Given the description of an element on the screen output the (x, y) to click on. 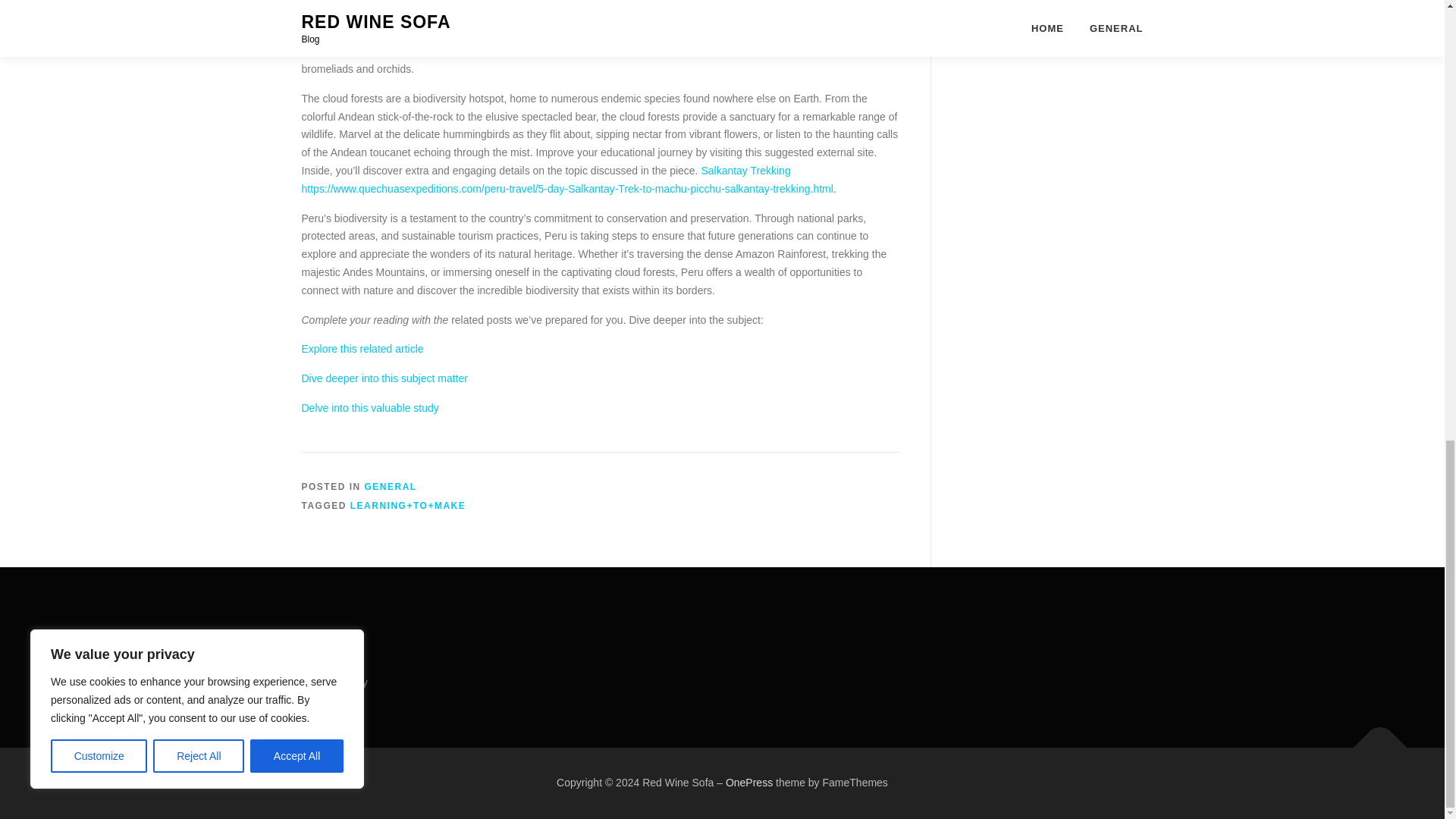
Explore this related article (362, 348)
Back To Top (1372, 740)
GENERAL (390, 486)
Dive deeper into this subject matter (384, 378)
Delve into this valuable study (370, 408)
